Given the description of an element on the screen output the (x, y) to click on. 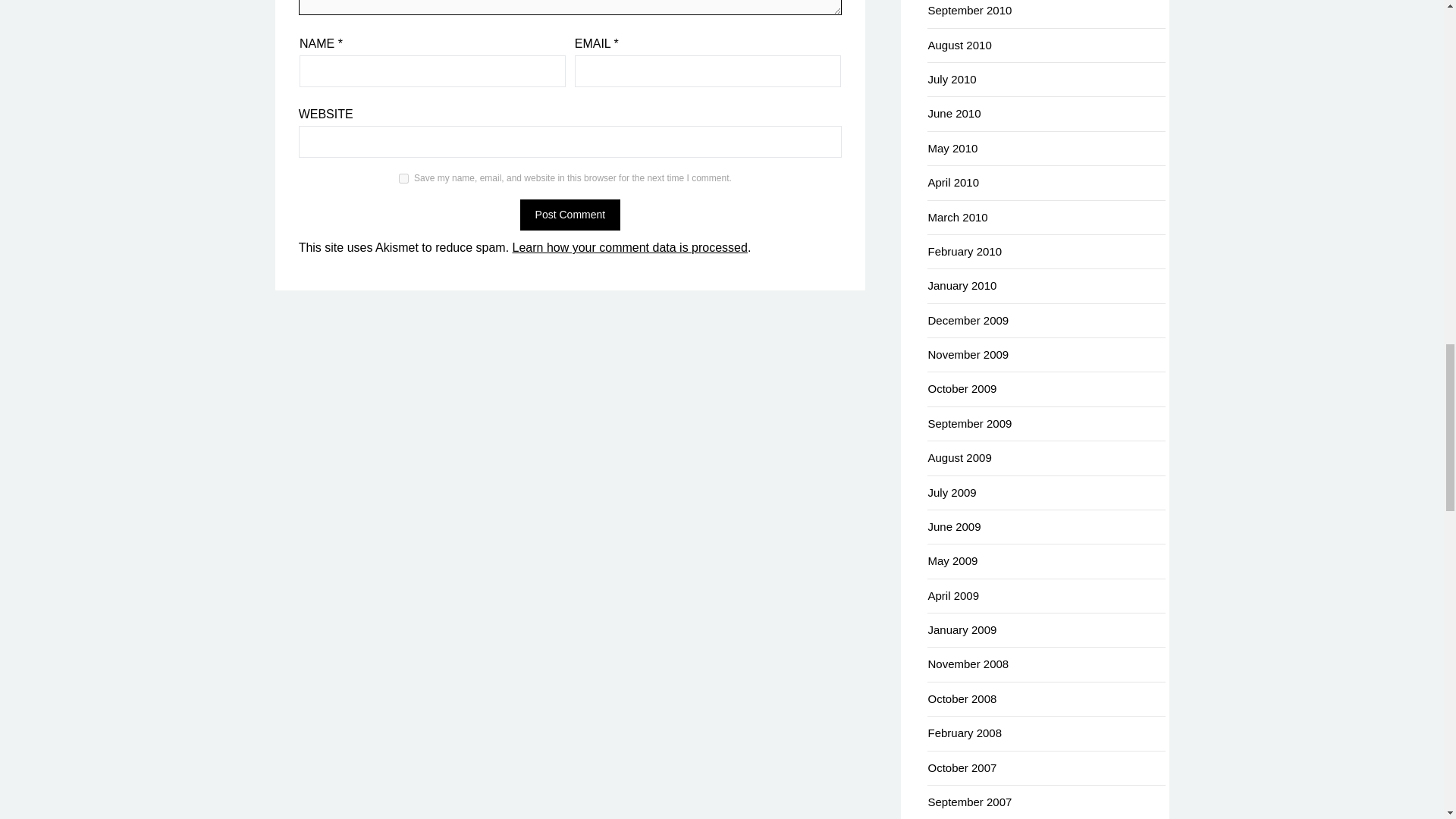
Post Comment (570, 214)
Learn how your comment data is processed (630, 246)
Post Comment (570, 214)
yes (403, 178)
